Given the description of an element on the screen output the (x, y) to click on. 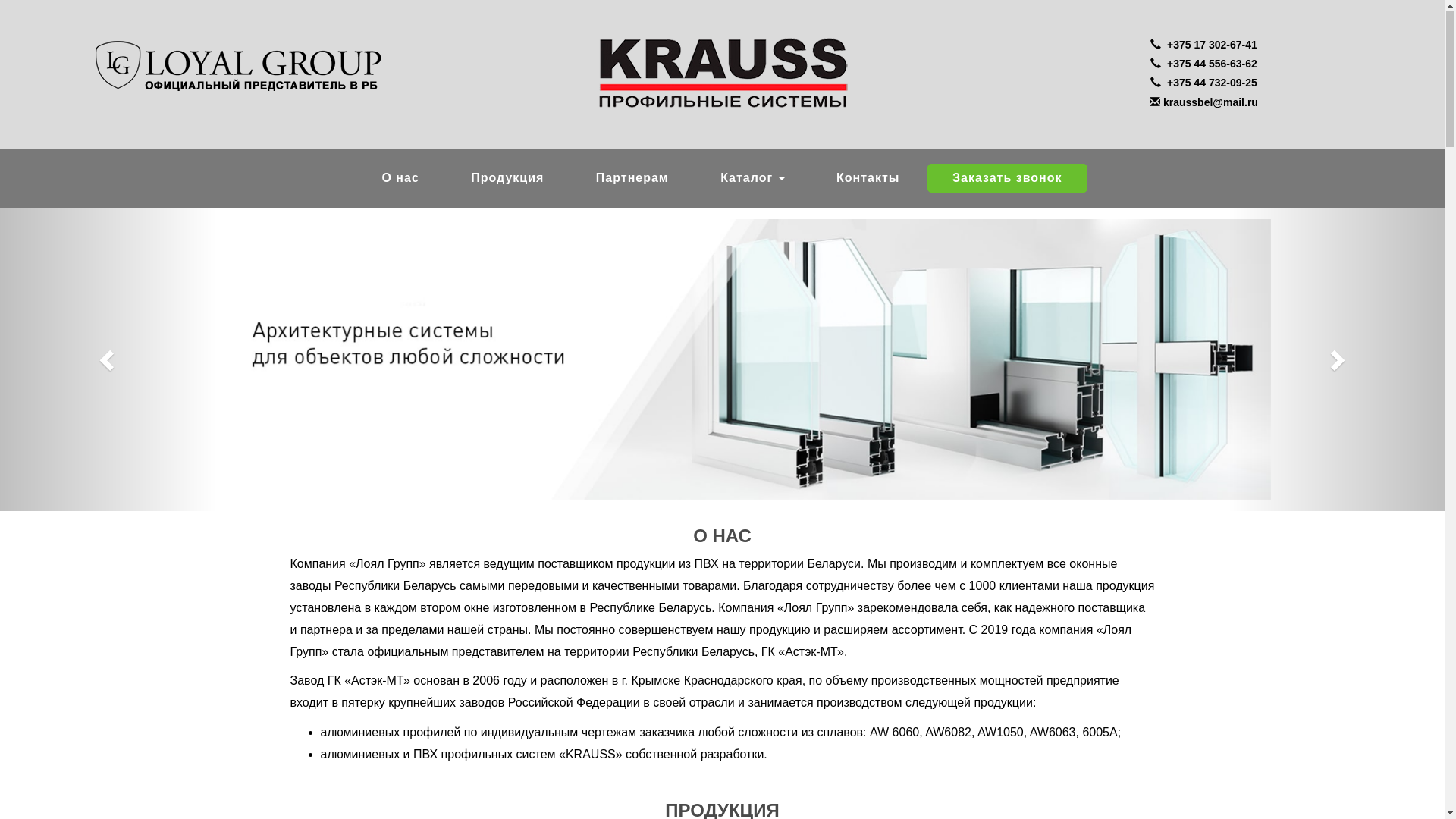
  +375 44 732-09-25 Element type: text (1203, 83)
  +375 17 302-67-41 Element type: text (1203, 45)
  +375 44 556-63-62 Element type: text (1203, 64)
kraussbel@mail.ru Element type: text (1203, 103)
